Given the description of an element on the screen output the (x, y) to click on. 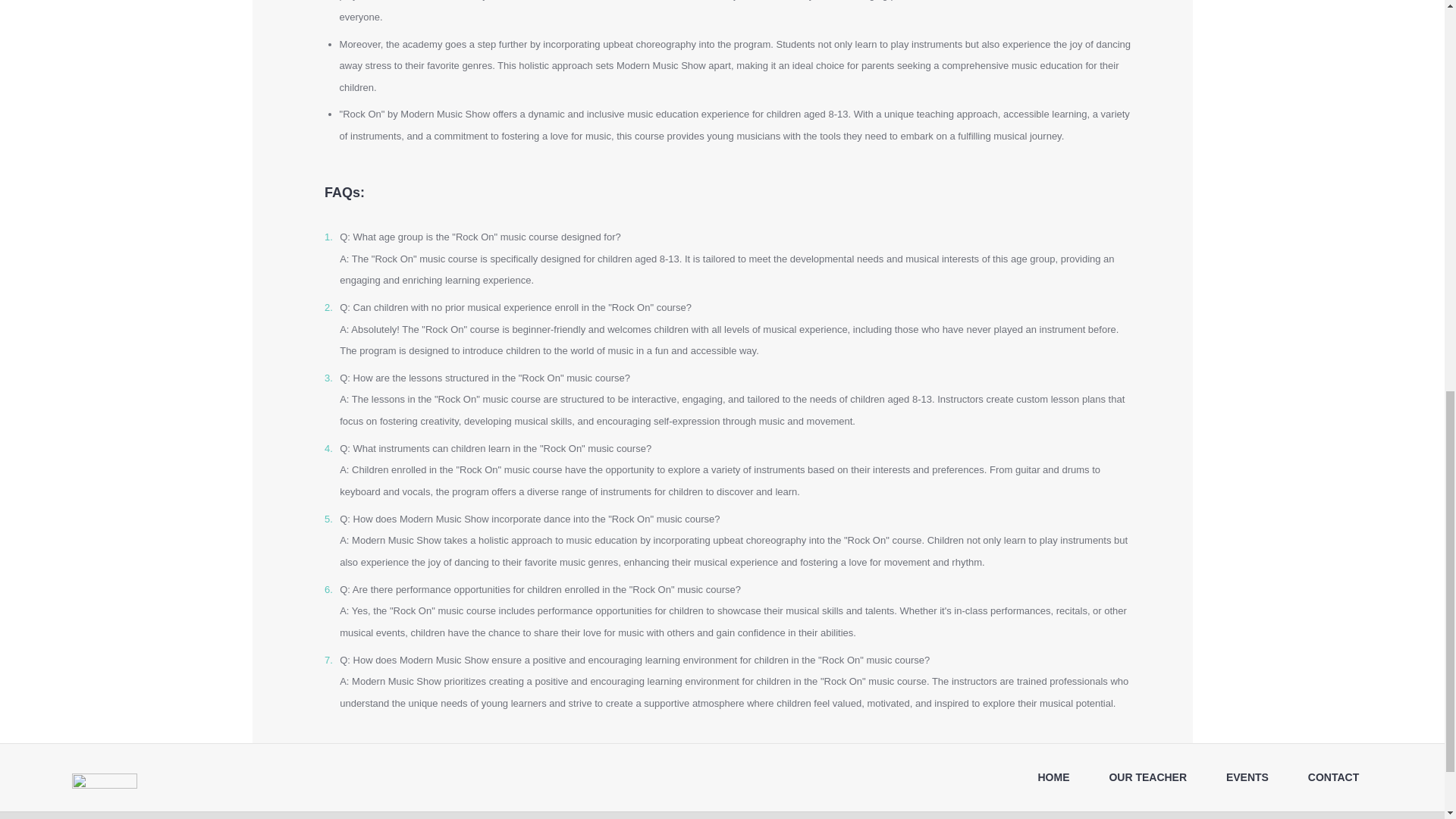
HOME (1054, 777)
EVENTS (1246, 777)
CONTACT (1332, 777)
OUR TEACHER (1147, 777)
